Given the description of an element on the screen output the (x, y) to click on. 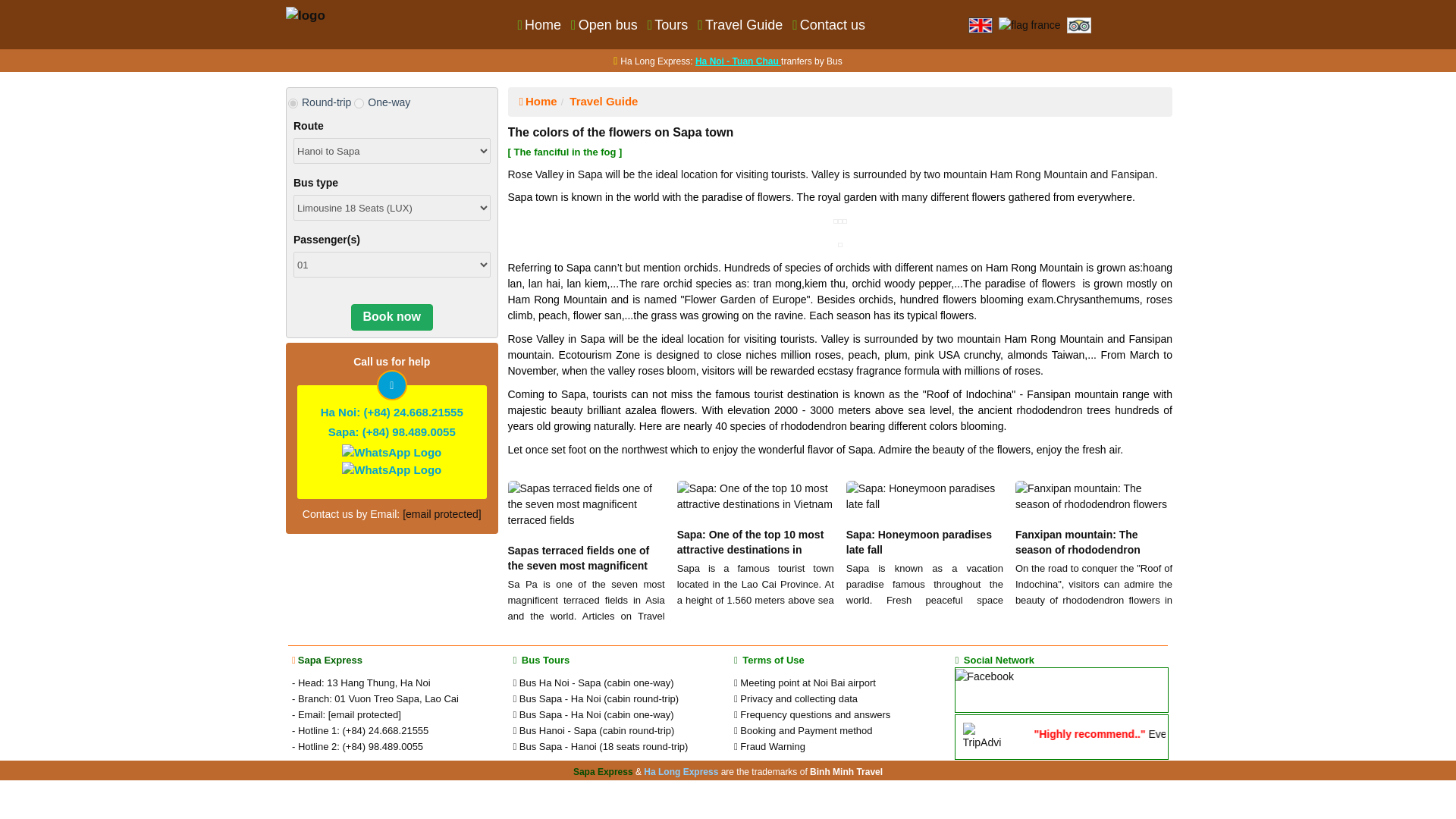
Luxury Sapa Tours by Bus (304, 14)
1 (358, 103)
Home (540, 24)
Home (537, 101)
2 (293, 103)
Contact us (829, 24)
Open bus (605, 24)
Travel Guide (741, 24)
Tours (668, 24)
Ha Long Express: Ha Noi - Tuan Chau tranfers by Bus (731, 61)
